Given the description of an element on the screen output the (x, y) to click on. 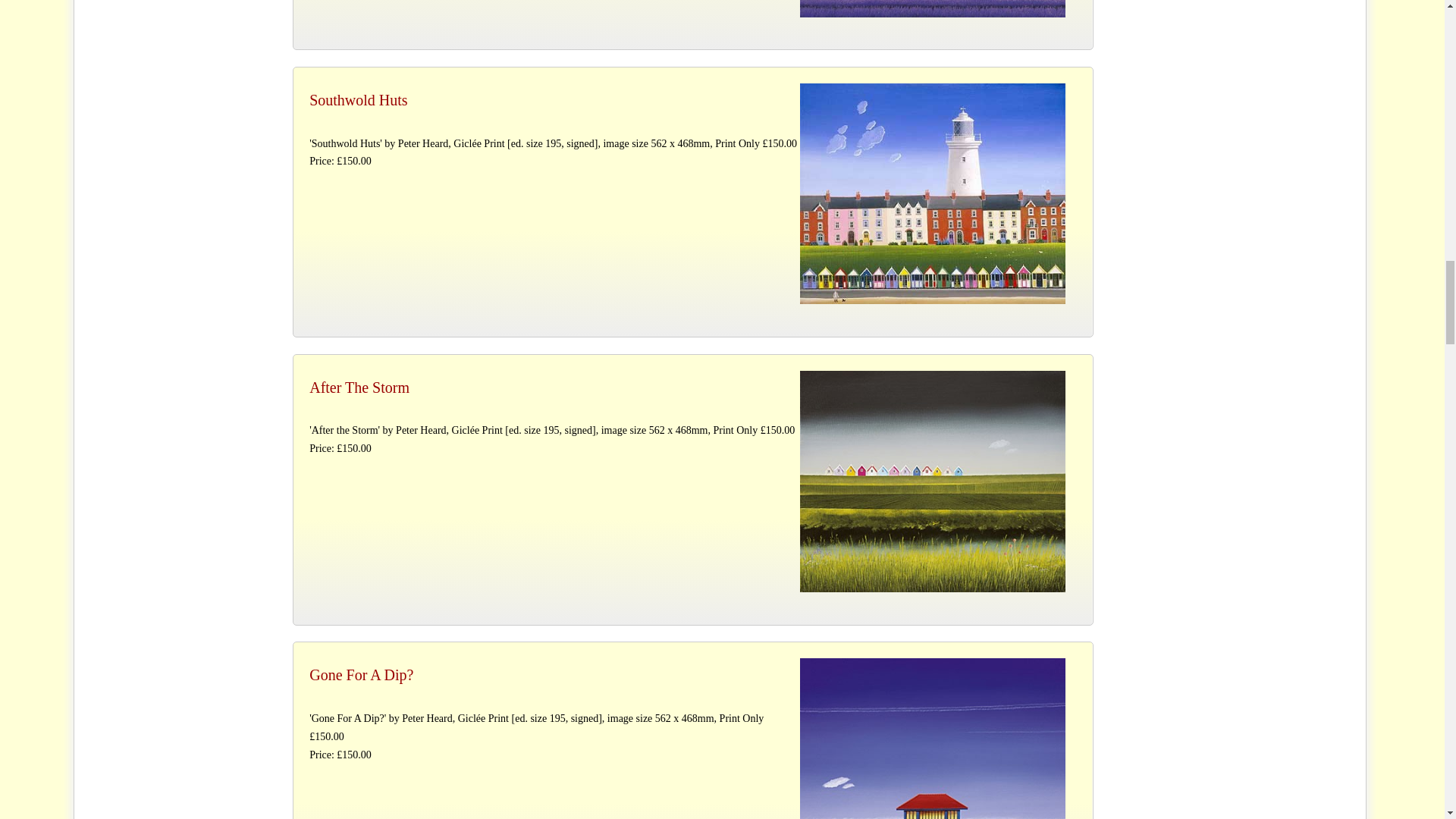
Gone For A Dip? (932, 738)
Southwold Huts (932, 193)
Abbaye de Senanque (932, 8)
After The Storm (932, 481)
